Given the description of an element on the screen output the (x, y) to click on. 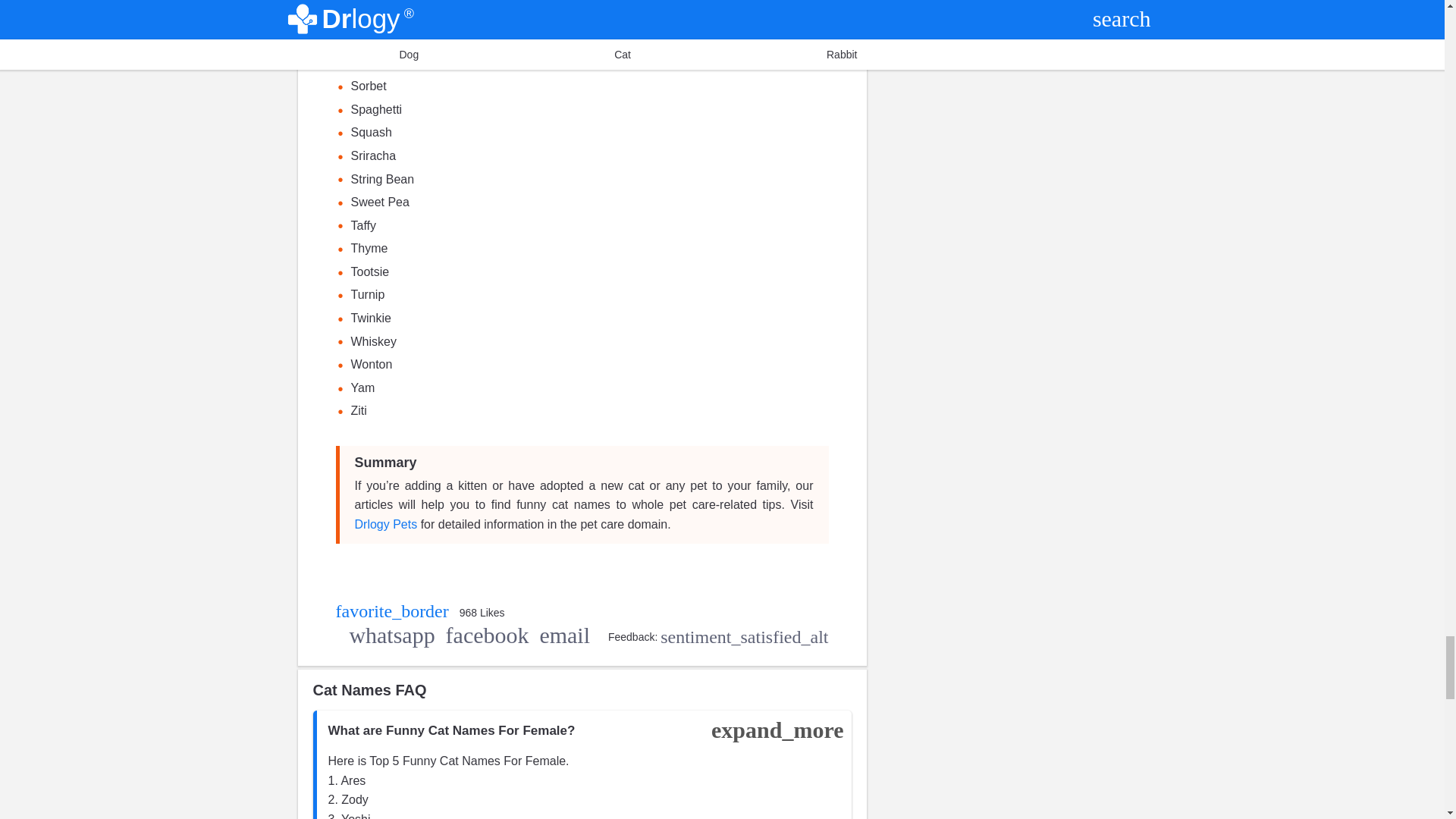
email (565, 636)
Drlogy Pets (386, 523)
facebook (487, 636)
whatsapp (391, 636)
Drlogy Pets (386, 523)
